Given the description of an element on the screen output the (x, y) to click on. 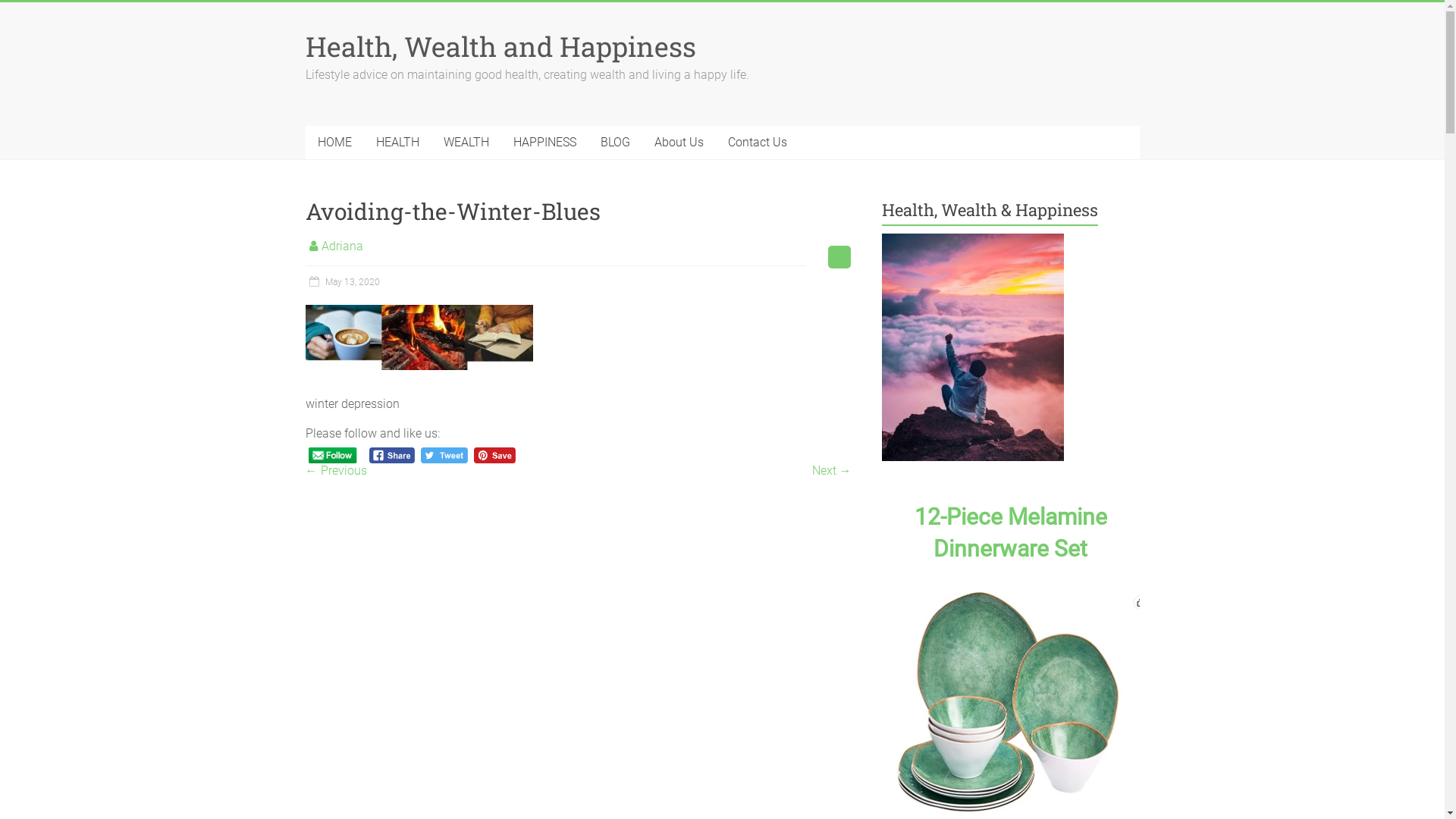
Health, Wealth and Happiness Element type: text (499, 46)
Facebook Share Element type: hover (392, 455)
HOME Element type: text (333, 142)
Adriana Element type: text (342, 245)
WEALTH Element type: text (465, 142)
About Us Element type: text (678, 142)
May 13, 2020 Element type: text (341, 281)
Tweet Element type: hover (443, 455)
Pin Share Element type: hover (494, 455)
12-Piece Melamine Dinnerware Set Element type: text (1010, 532)
BLOG Element type: text (615, 142)
Health, Wealth & Happiness Element type: hover (972, 347)
HEALTH Element type: text (397, 142)
HAPPINESS Element type: text (543, 142)
Contact Us Element type: text (757, 142)
